Given the description of an element on the screen output the (x, y) to click on. 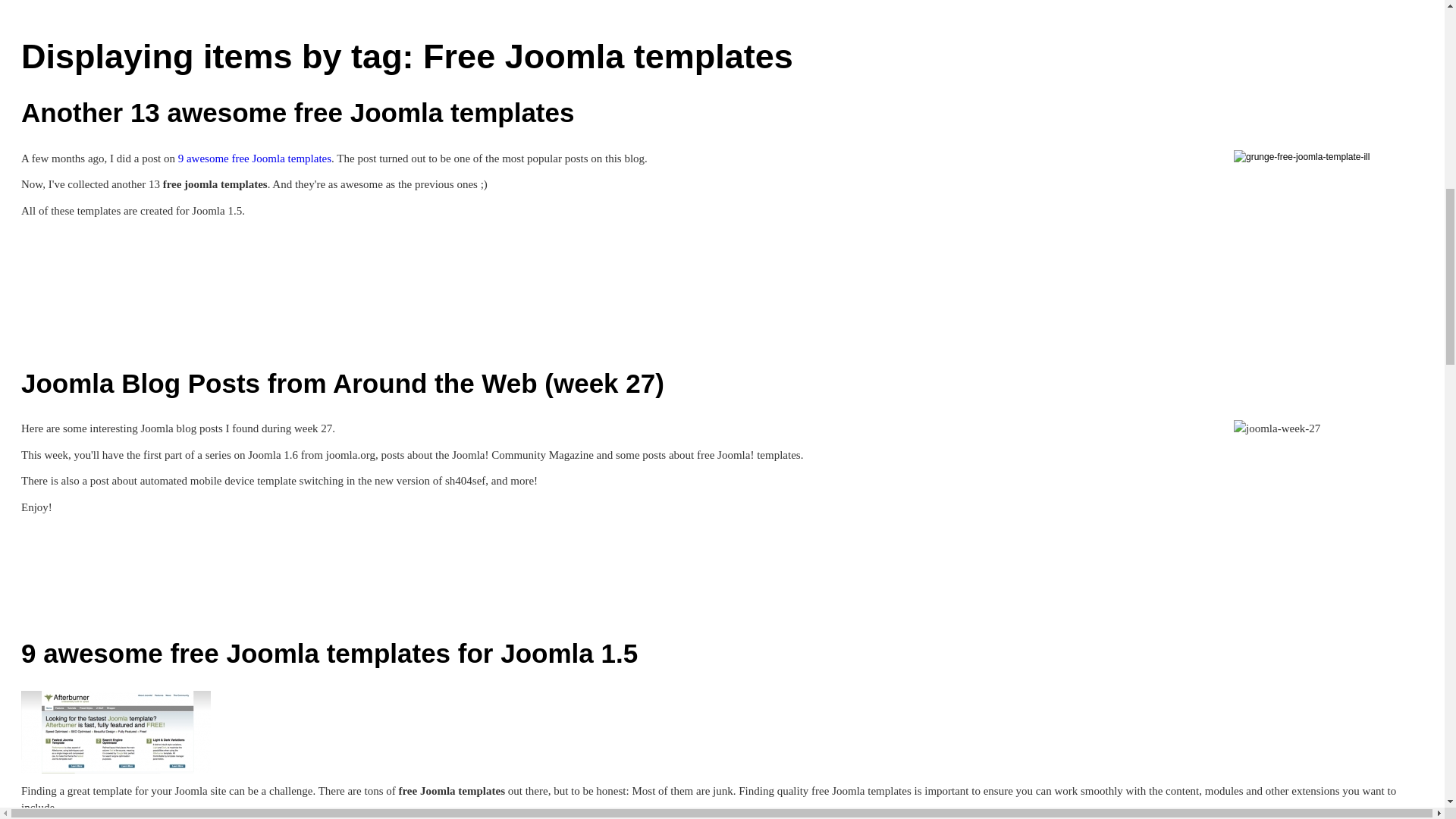
Another 13 awesome free Joomla templates (297, 112)
Nine awesome free Joomla templates (254, 158)
9 awesome free Joomla templates for Joomla 1.5 (116, 730)
